Given the description of an element on the screen output the (x, y) to click on. 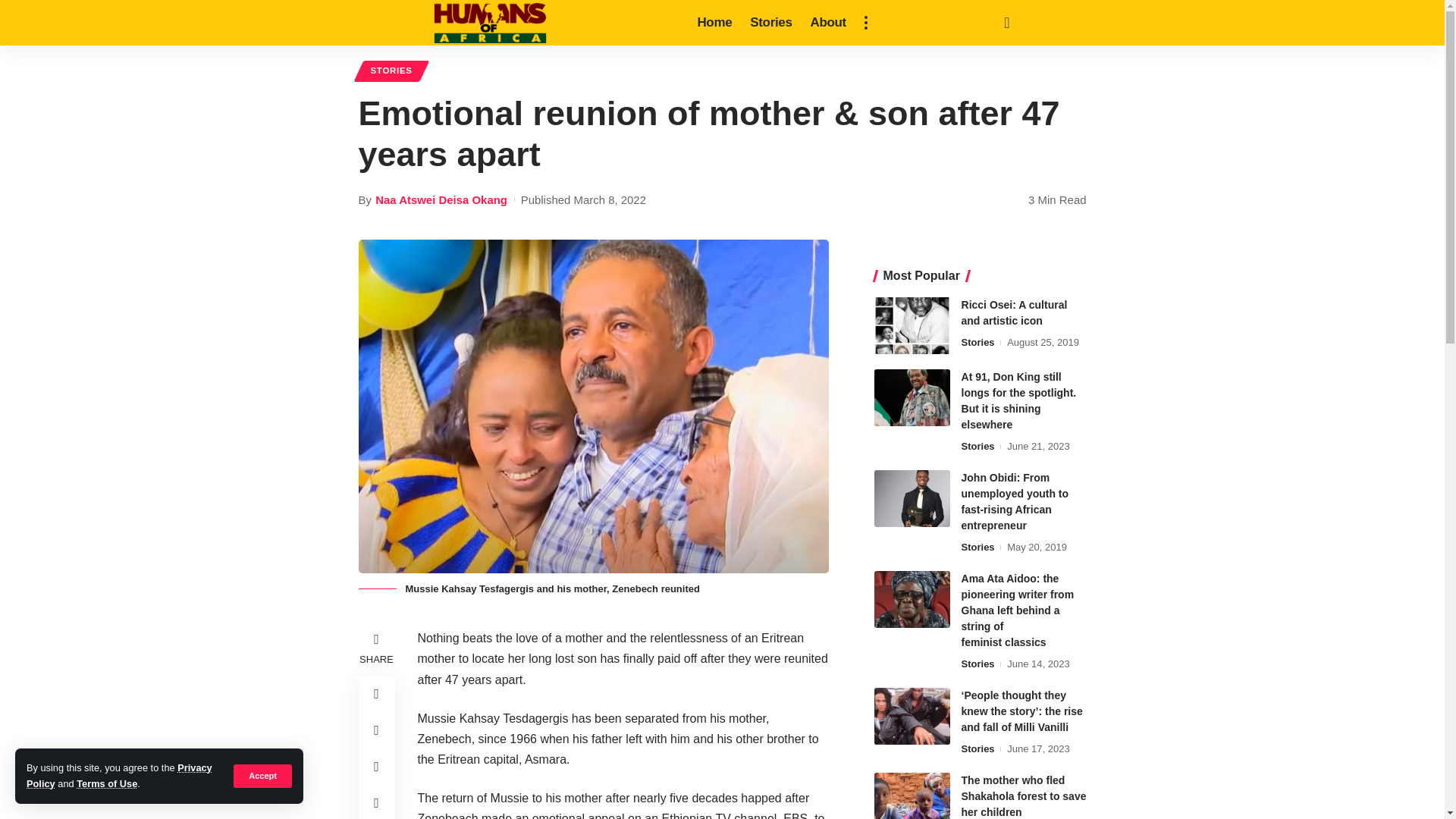
About (829, 22)
Humans of Africa (489, 22)
Ricci Osei: A cultural and artistic icon (912, 325)
The mother who fled Shakahola forest to save her children (912, 796)
Accept (262, 775)
Naa Atswei Deisa Okang (440, 198)
Privacy Policy (119, 775)
Terms of Use (106, 783)
